Given the description of an element on the screen output the (x, y) to click on. 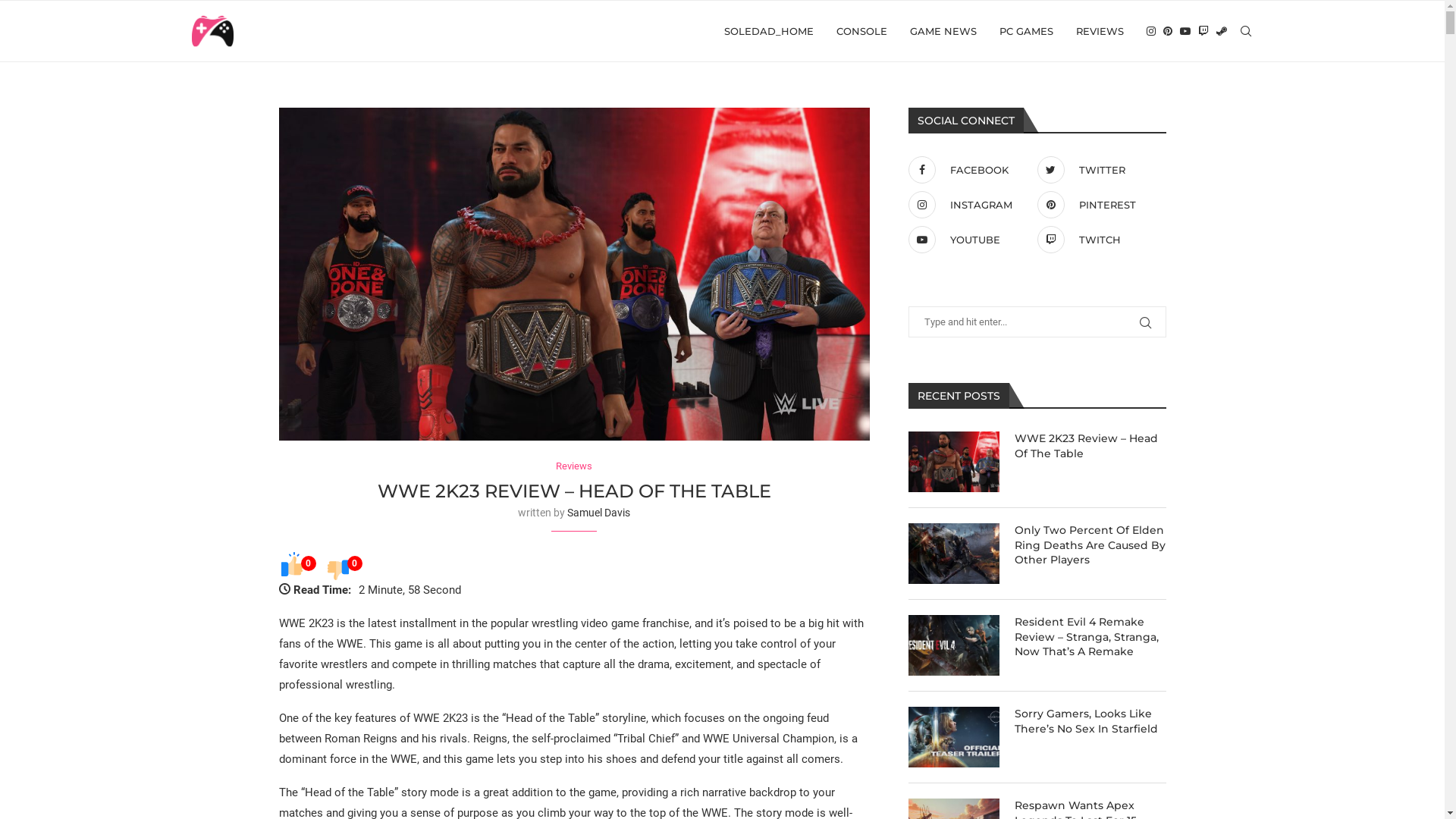
Search Element type: text (128, 15)
PINTEREST Element type: text (1096, 204)
Samuel Davis Element type: text (598, 512)
TWITCH Element type: text (1096, 239)
SOLEDAD_HOME Element type: text (767, 30)
Reviews Element type: text (573, 466)
FACEBOOK Element type: text (967, 169)
REVIEWS Element type: text (1099, 30)
GAME NEWS Element type: text (943, 30)
INSTAGRAM Element type: text (967, 204)
PC GAMES Element type: text (1026, 30)
4114774-wwe2k23_20230314012400 Element type: hover (574, 273)
YOUTUBE Element type: text (967, 239)
TWITTER Element type: text (1096, 169)
CONSOLE Element type: text (860, 30)
